Given the description of an element on the screen output the (x, y) to click on. 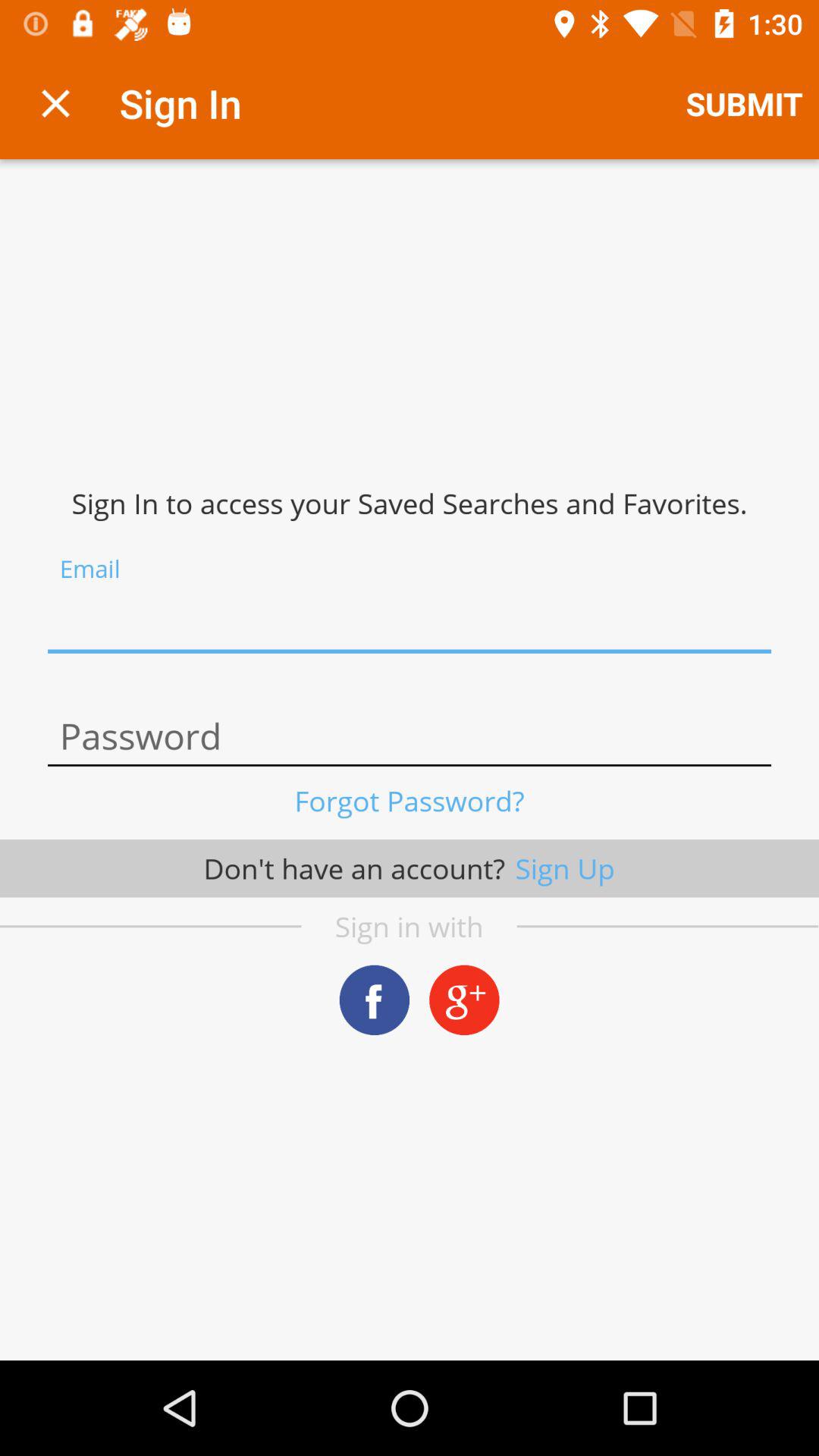
password input (409, 737)
